Given the description of an element on the screen output the (x, y) to click on. 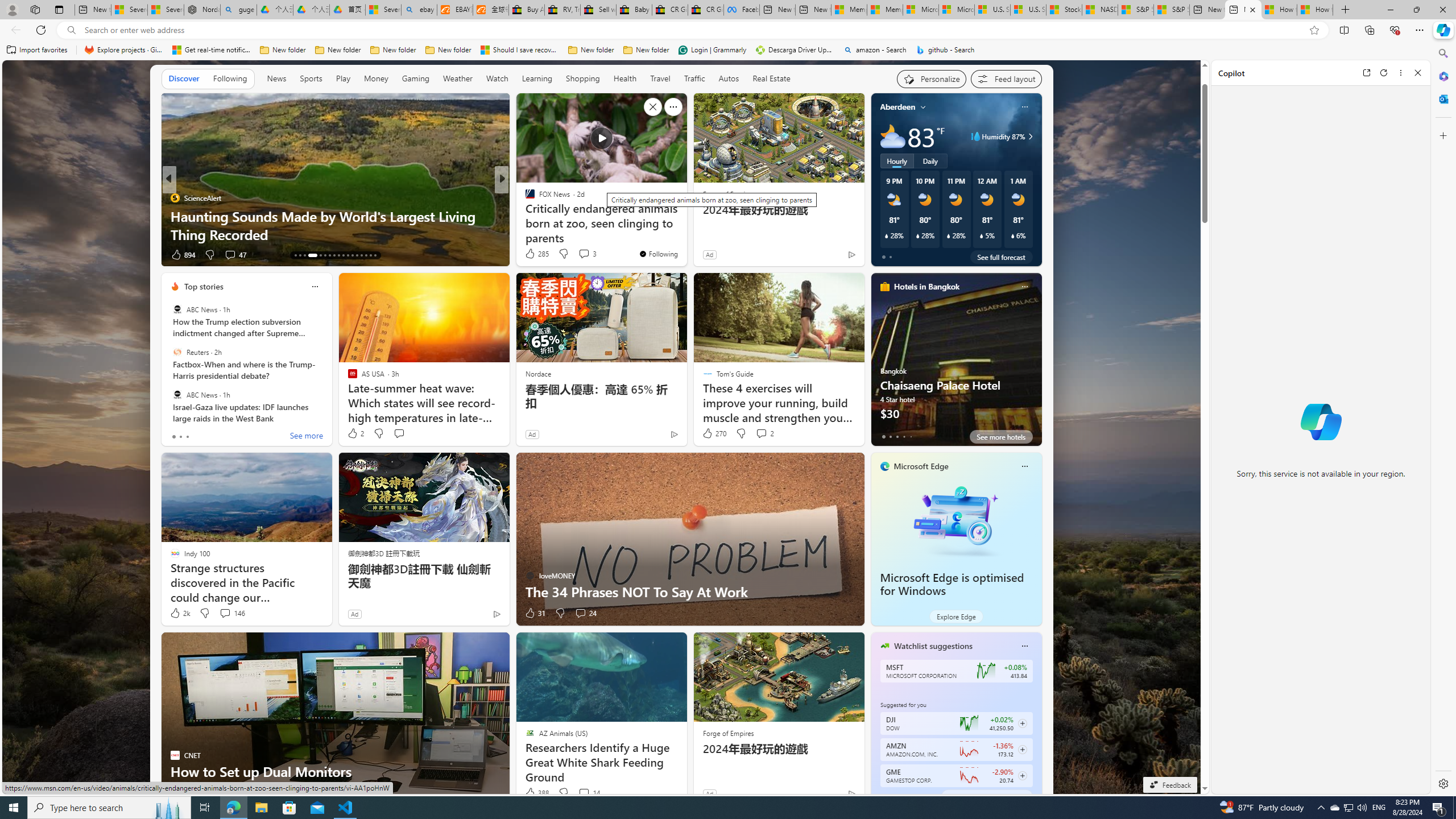
Microsoft Edge is optimised for Windows (952, 584)
View comments 2 Comment (764, 433)
Money (376, 78)
See watchlist suggestions (986, 796)
Start the conversation (225, 792)
See full forecast (1000, 256)
AutomationID: tab-13 (295, 255)
ebay - Search (419, 9)
View comments 1 Comment (575, 254)
tab-2 (897, 795)
github - Search (945, 49)
